Given the description of an element on the screen output the (x, y) to click on. 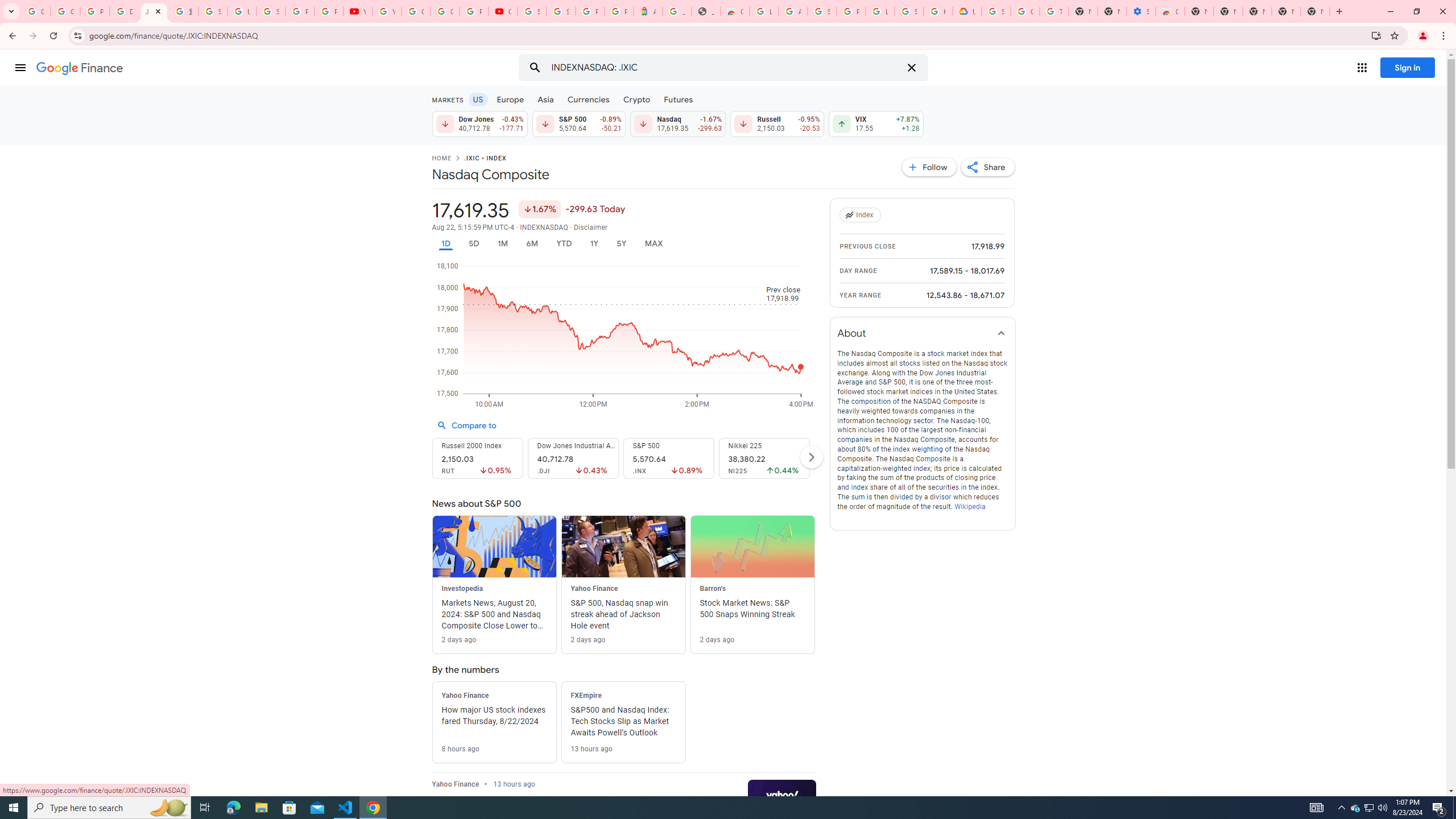
US (477, 99)
Sign in - Google Accounts (531, 11)
Sign in - Google Accounts (821, 11)
MAX (653, 243)
Search for stocks, ETFs & more (724, 67)
Sign in - Google Accounts (212, 11)
Google Account Help (1025, 11)
Atour Hotel - Google hotels (648, 11)
Finance (79, 68)
Wikipedia (969, 506)
1Y (594, 243)
